Given the description of an element on the screen output the (x, y) to click on. 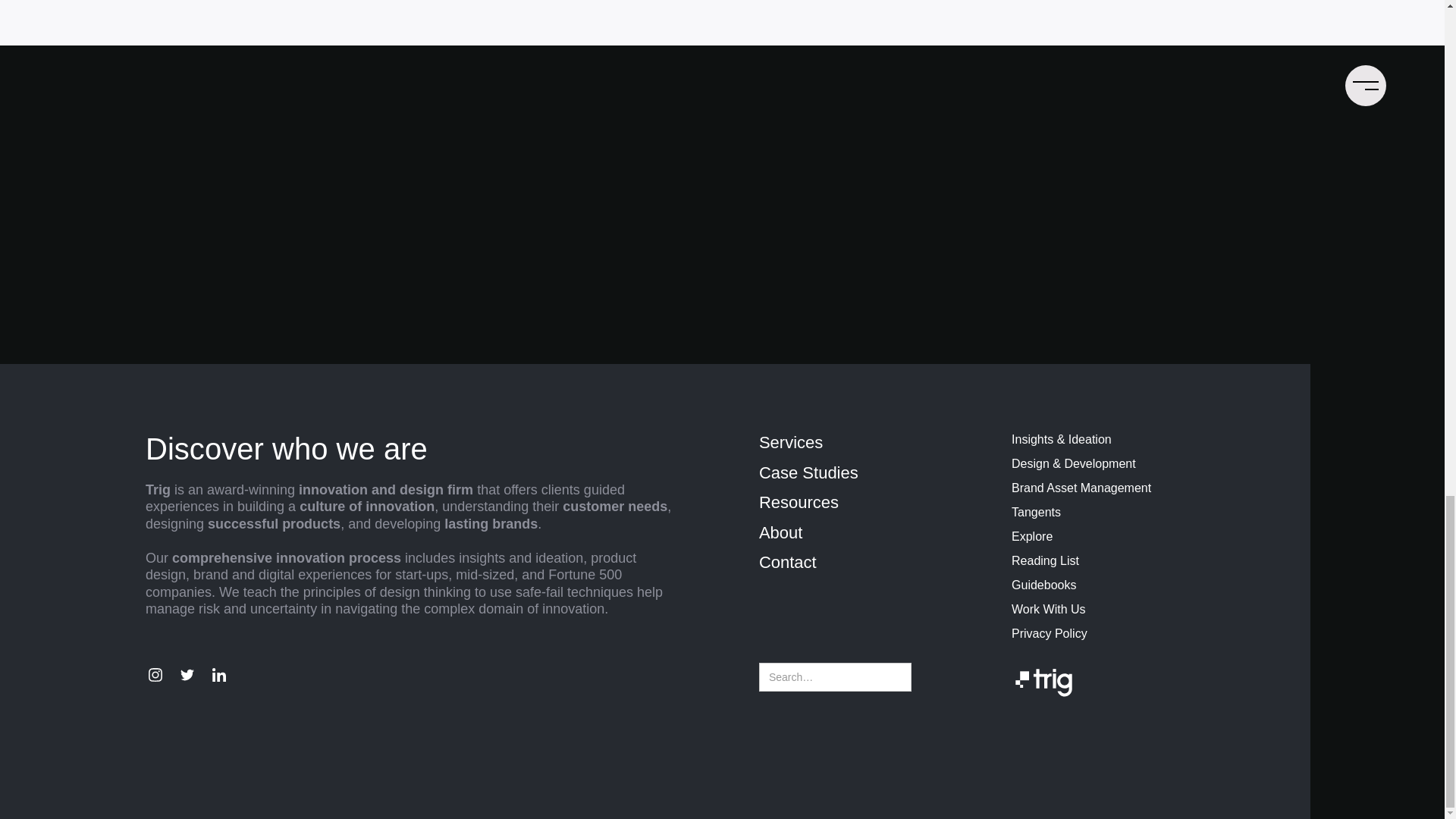
Tangents (1131, 512)
Guidebooks (1131, 585)
About (878, 532)
Contact (878, 562)
Privacy Policy (1131, 633)
Brand Asset Management (1131, 488)
Resources (878, 502)
Work With Us (1131, 609)
Reading List (1131, 560)
Case Studies (878, 473)
